Given the description of an element on the screen output the (x, y) to click on. 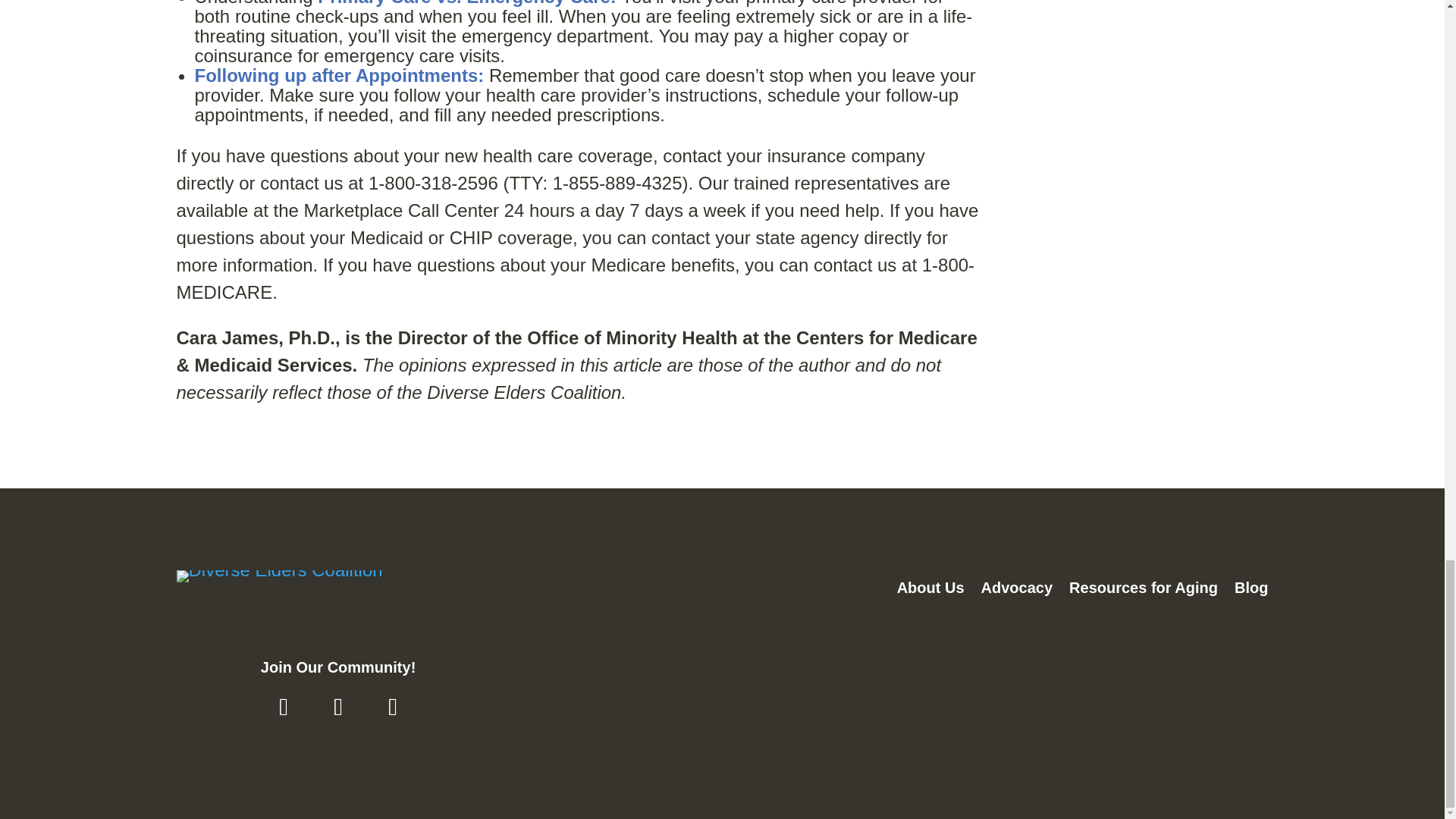
Follow on X (338, 706)
Primary Care vs. Emergency Care: (466, 3)
Resources for Aging (1142, 590)
Blog (1251, 590)
About Us (929, 590)
Follow on LinkedIn (392, 706)
Following up after Appointments: (338, 75)
Advocacy (1016, 590)
Follow on Facebook (283, 706)
